Given the description of an element on the screen output the (x, y) to click on. 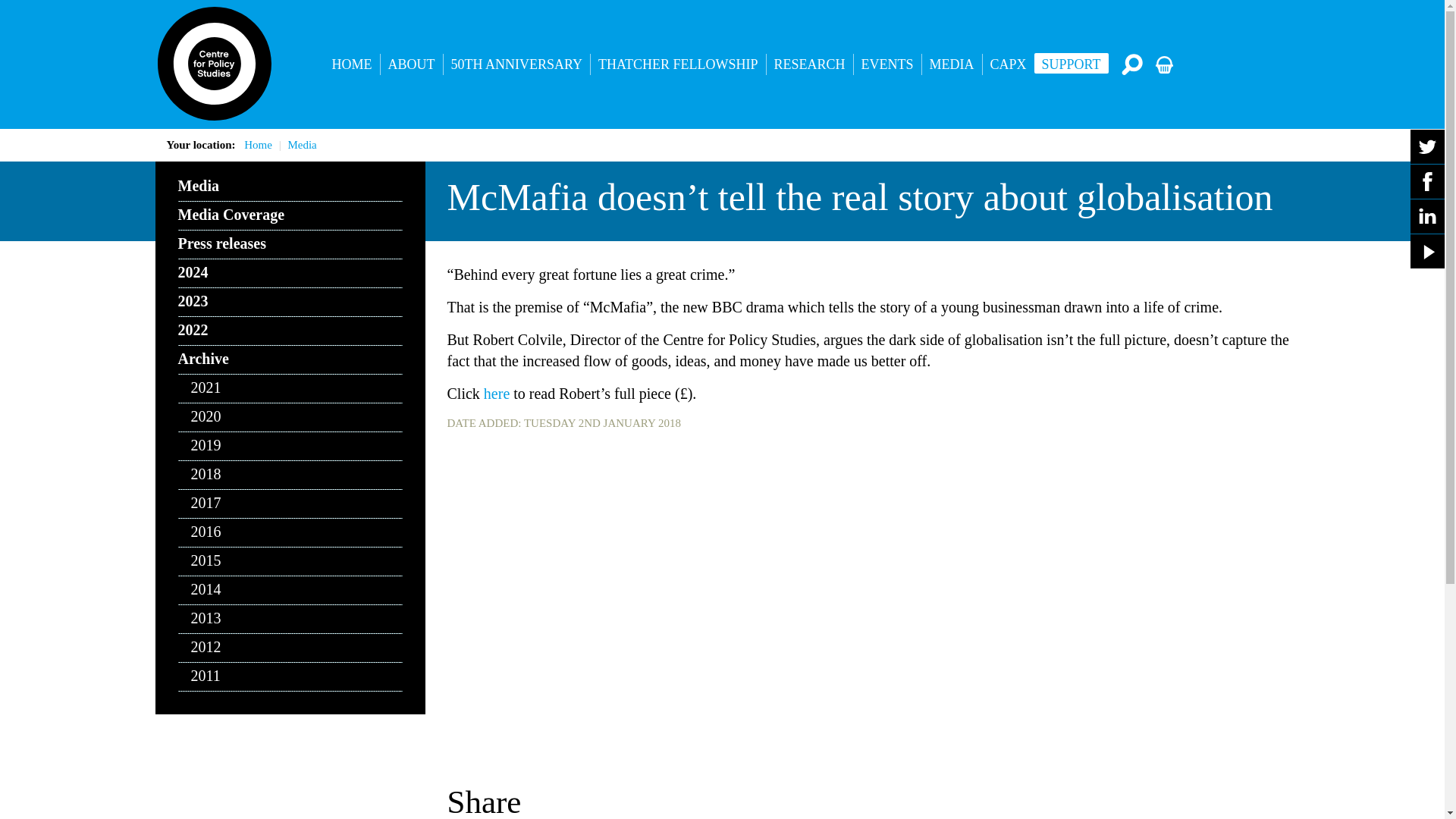
2024 (289, 273)
Archive (289, 359)
2015 (289, 561)
2023 (289, 302)
Media (300, 144)
2021 (289, 388)
2014 (289, 590)
SUPPORT (1070, 63)
THATCHER FELLOWSHIP (678, 64)
50TH ANNIVERSARY (515, 64)
2016 (289, 532)
2019 (289, 446)
2012 (289, 647)
CAPX (1007, 64)
HOME (352, 64)
